Given the description of an element on the screen output the (x, y) to click on. 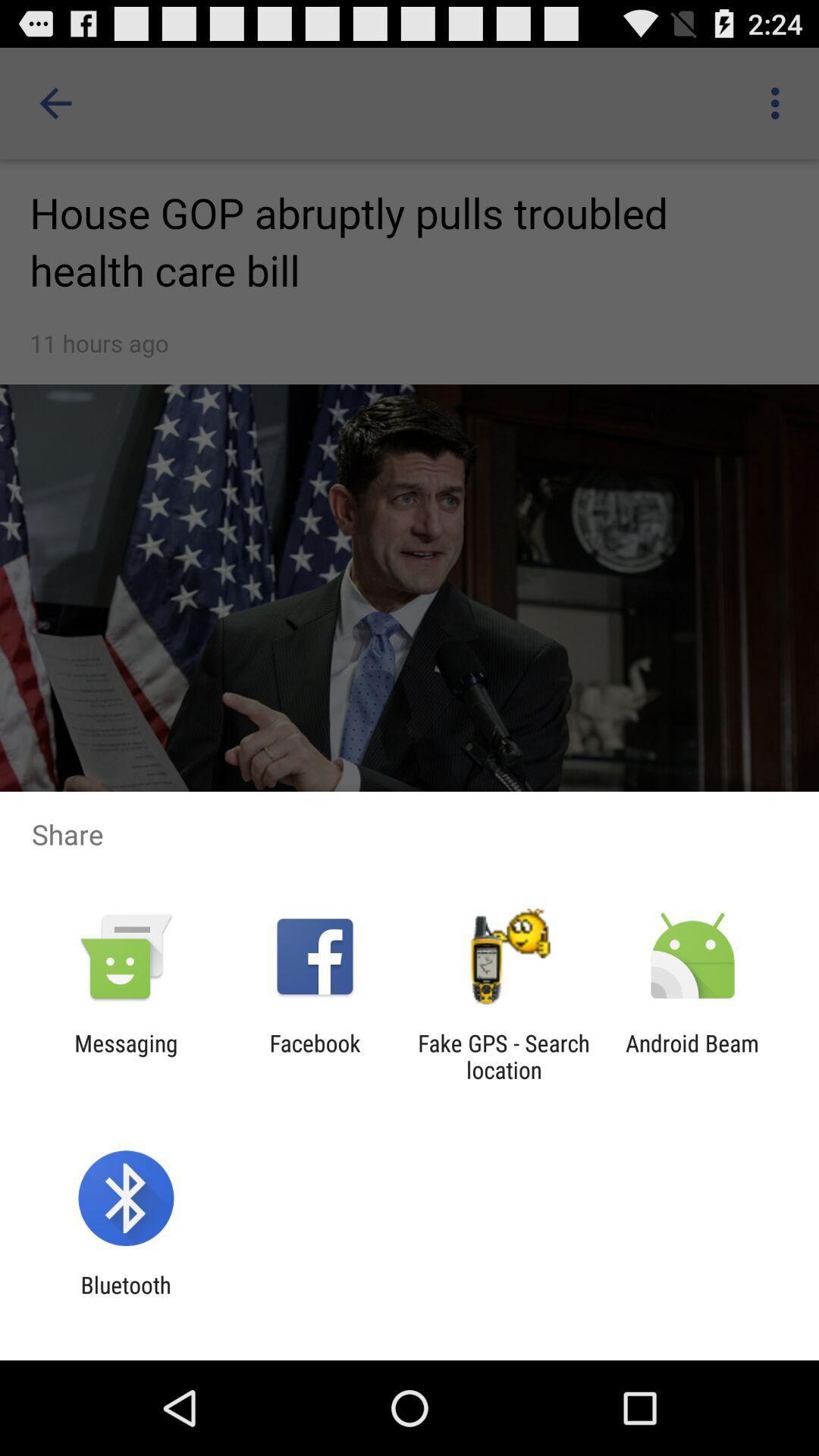
open icon at the bottom right corner (692, 1056)
